Given the description of an element on the screen output the (x, y) to click on. 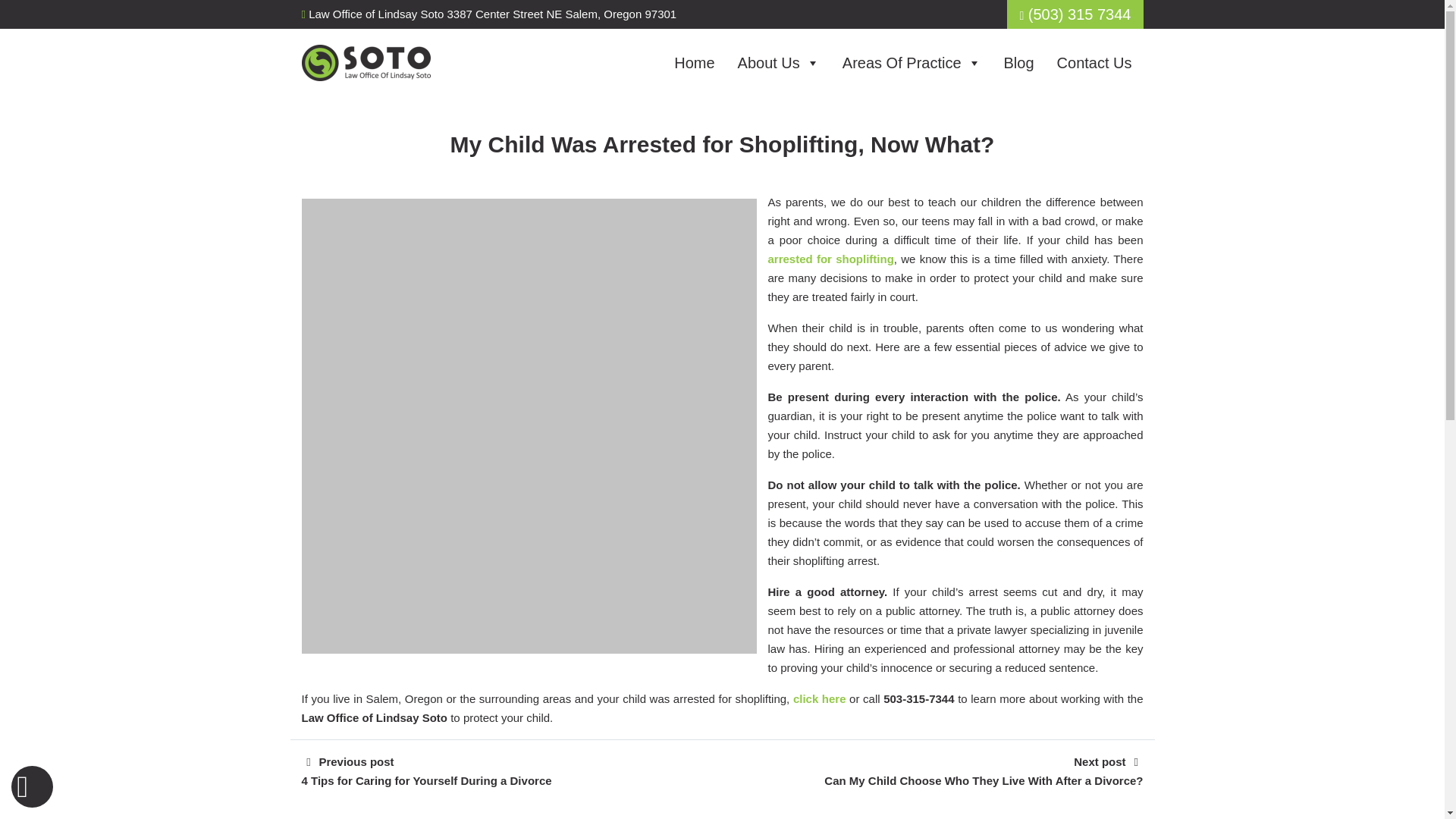
Law Office of Lindsay Soto (365, 63)
Blog (1018, 62)
Areas Of Practice (911, 62)
Call Us Now (1074, 14)
click here (819, 698)
Contact Us (1093, 62)
About Us (778, 62)
arrested for shoplifting (830, 258)
